Given the description of an element on the screen output the (x, y) to click on. 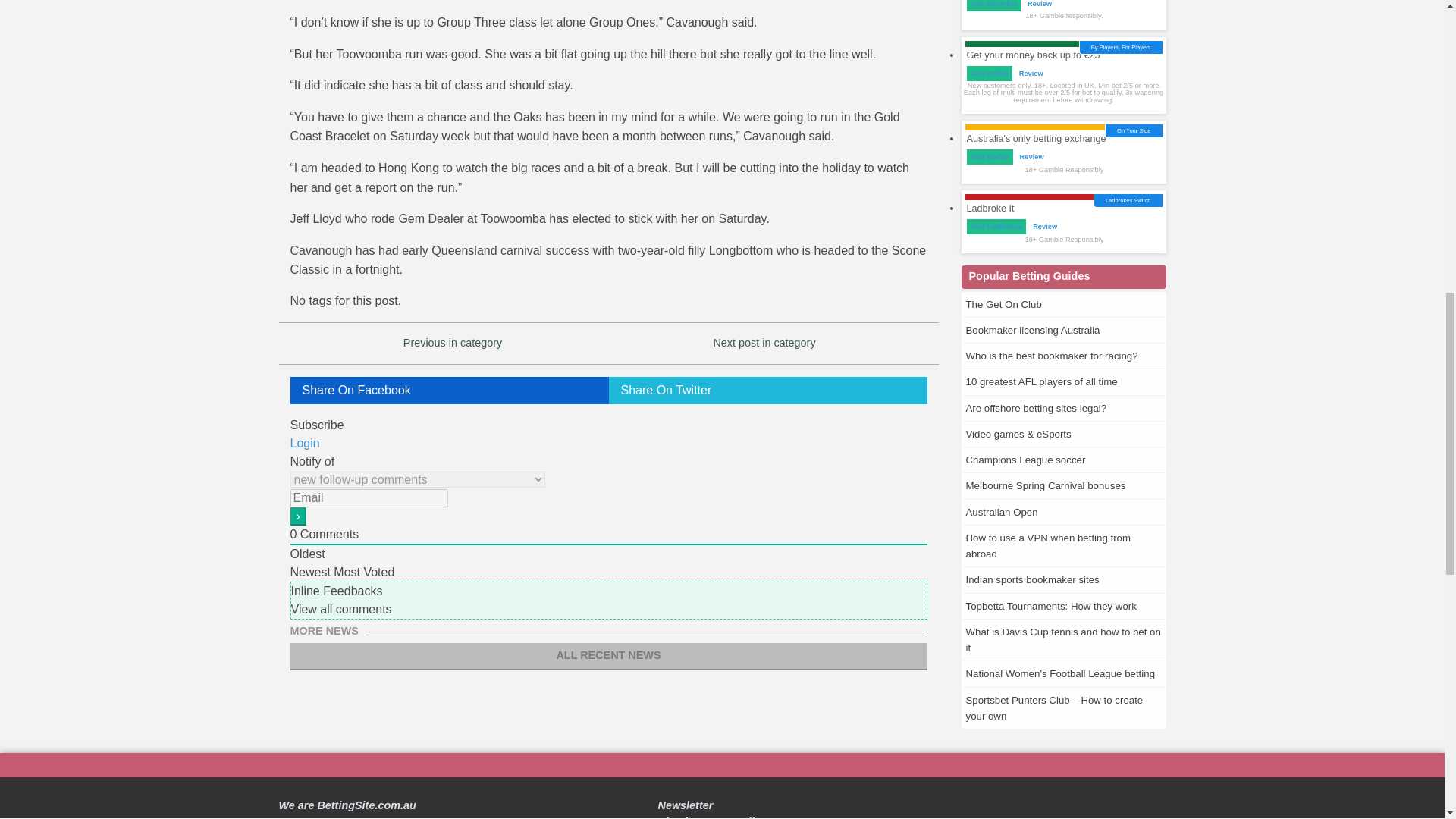
Share On Twitter (767, 390)
Login (303, 442)
Previous in category (452, 342)
Share On Facebook (448, 390)
Next post in category (764, 342)
